Given the description of an element on the screen output the (x, y) to click on. 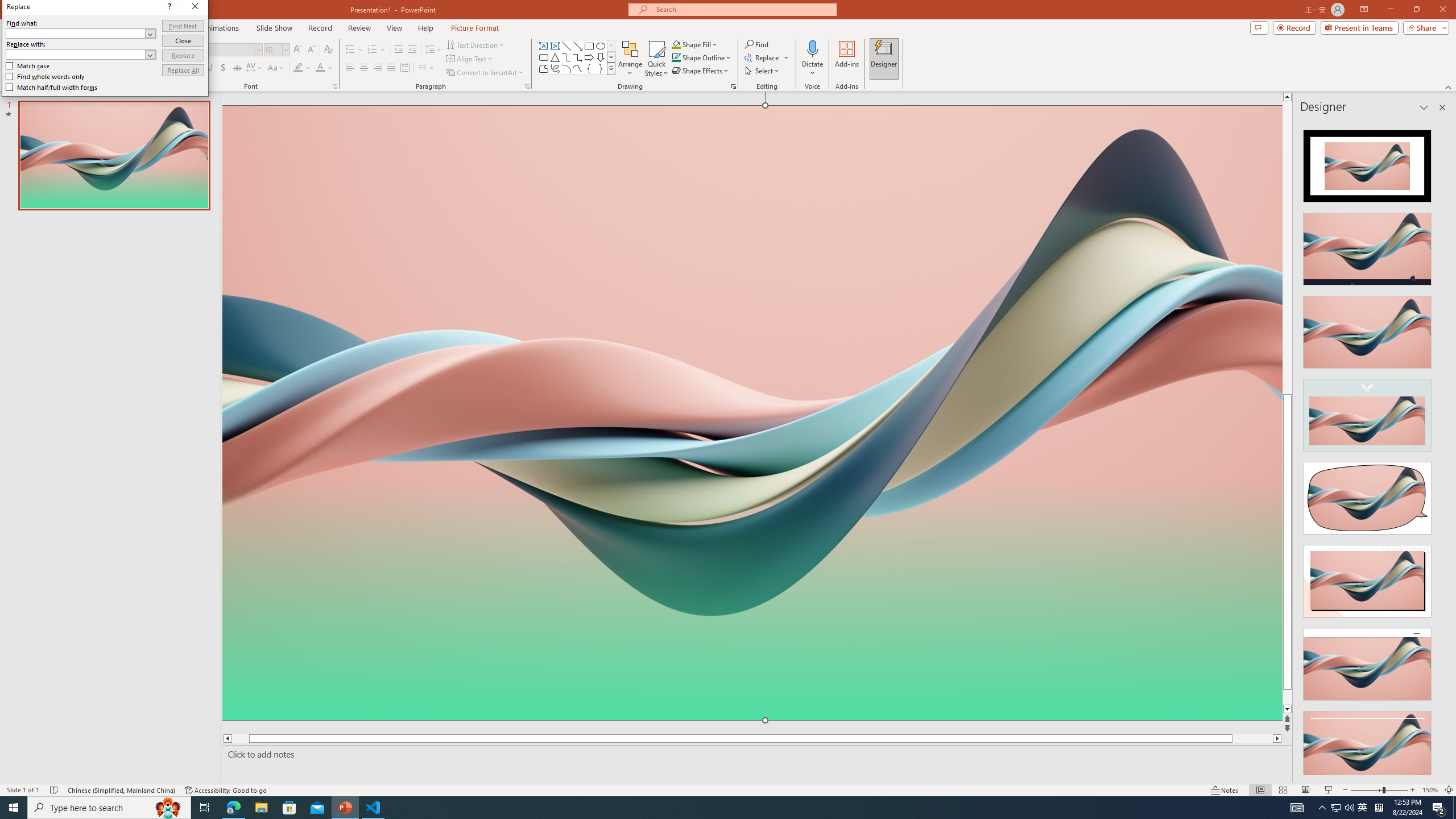
Find what (352, 217)
